Given the description of an element on the screen output the (x, y) to click on. 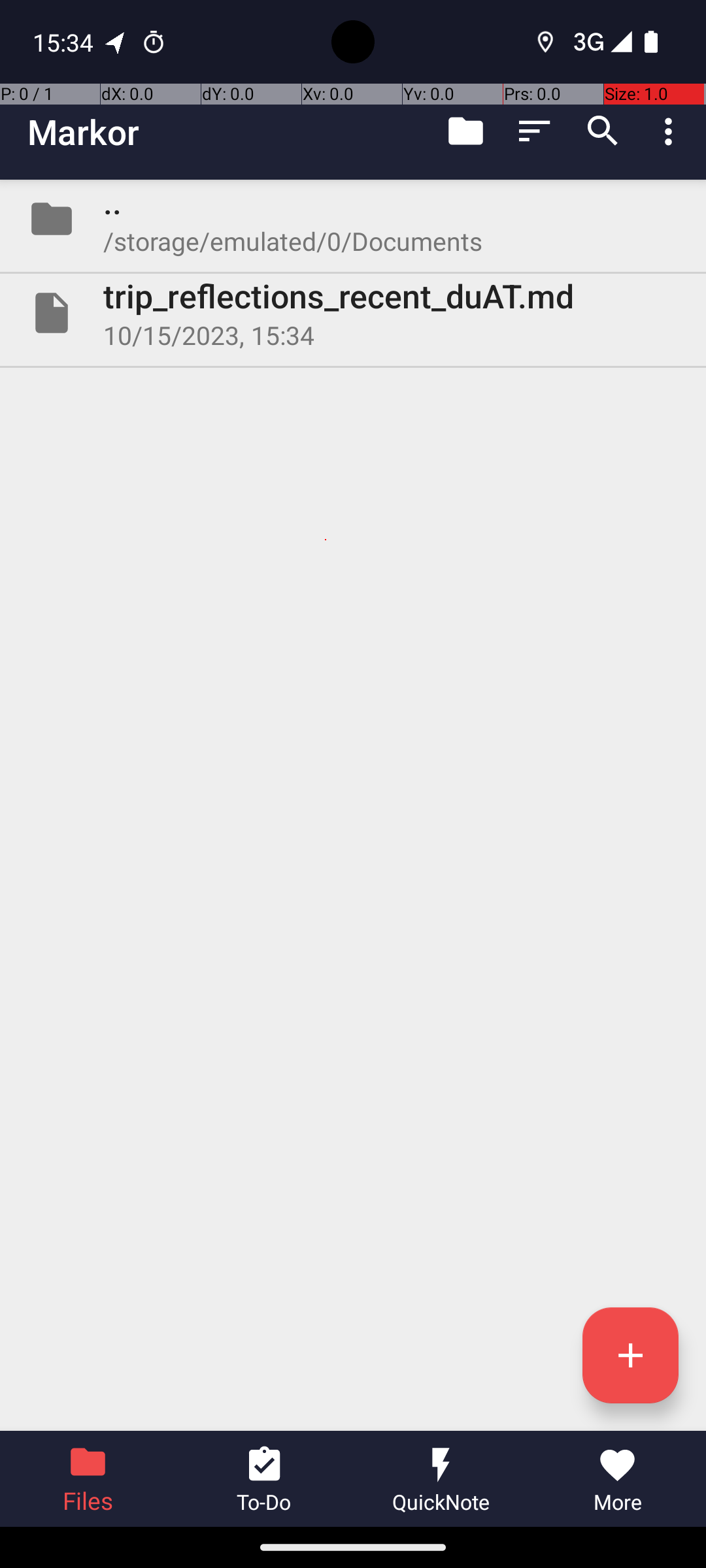
File trip_reflections_recent_duAT.md  Element type: android.widget.LinearLayout (353, 312)
